Given the description of an element on the screen output the (x, y) to click on. 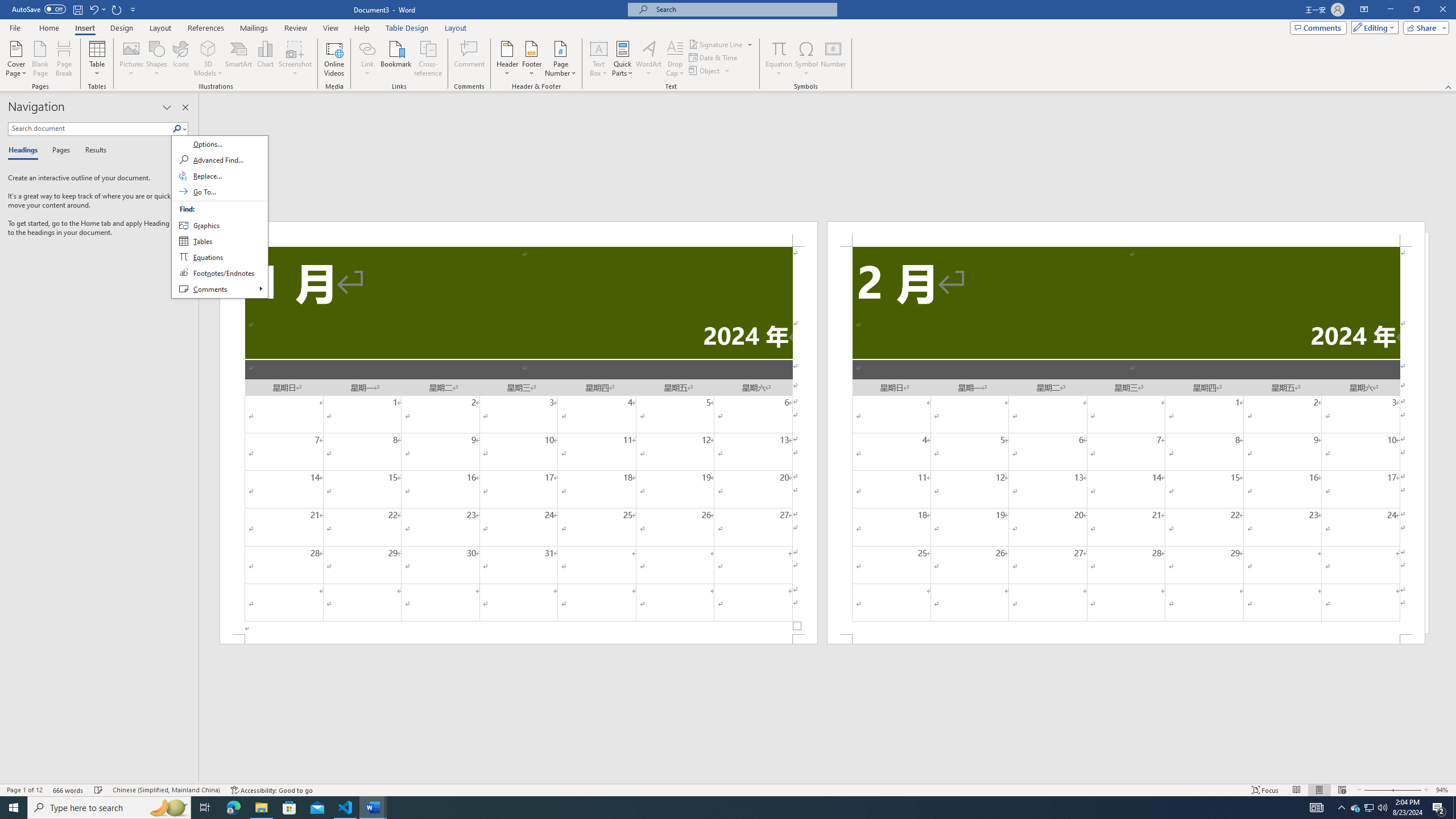
Page Number Page 1 of 12 (24, 790)
WordArt (648, 58)
Cross-reference... (428, 58)
3D Models (208, 58)
File Explorer - 1 running window (261, 807)
Link (367, 58)
Word Count 666 words (68, 790)
